Given the description of an element on the screen output the (x, y) to click on. 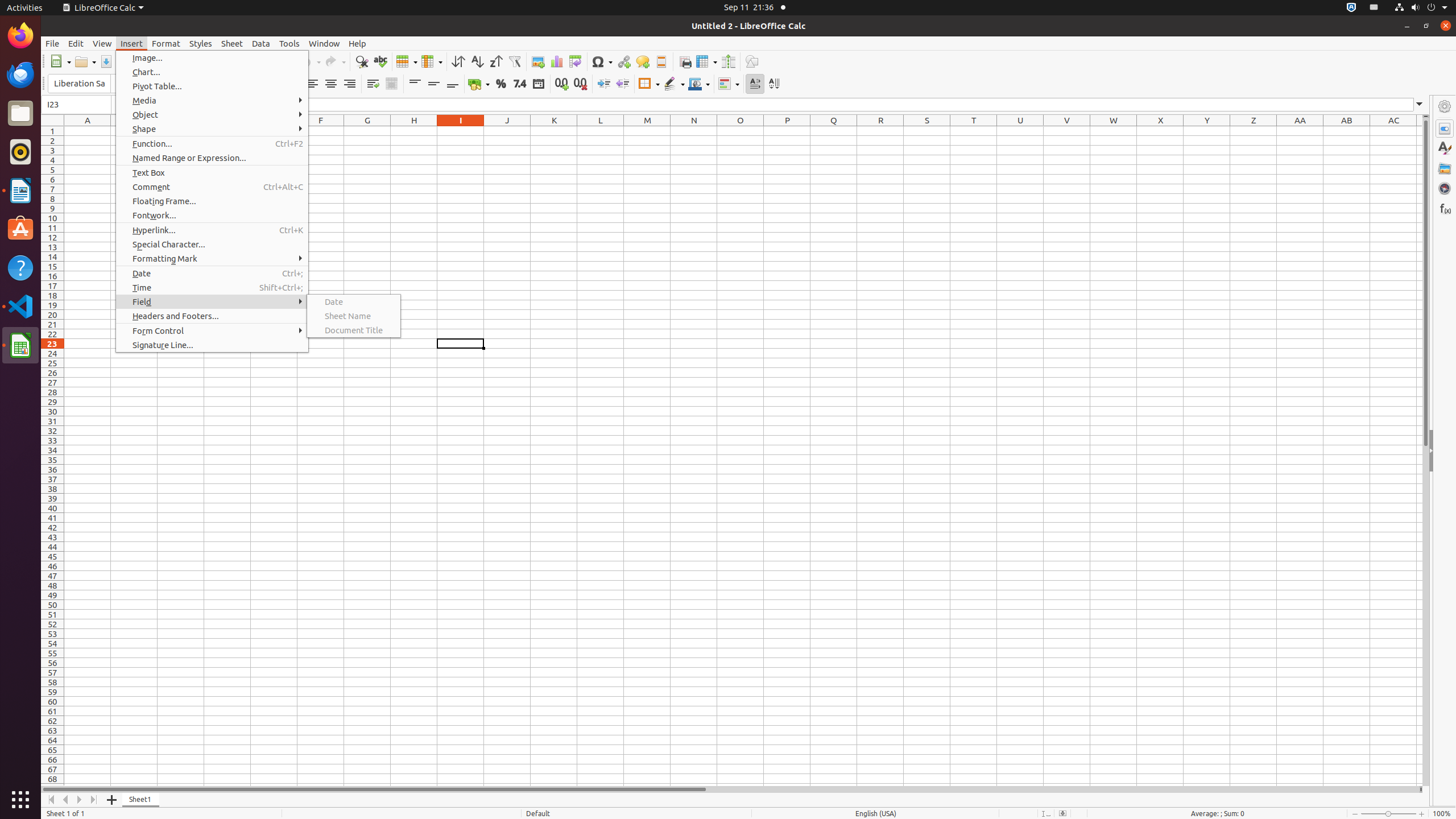
Fontwork... Element type: menu-item (212, 215)
Window Element type: menu (324, 43)
AC1 Element type: table-cell (1393, 130)
O1 Element type: table-cell (740, 130)
Increase Element type: push-button (603, 83)
